Given the description of an element on the screen output the (x, y) to click on. 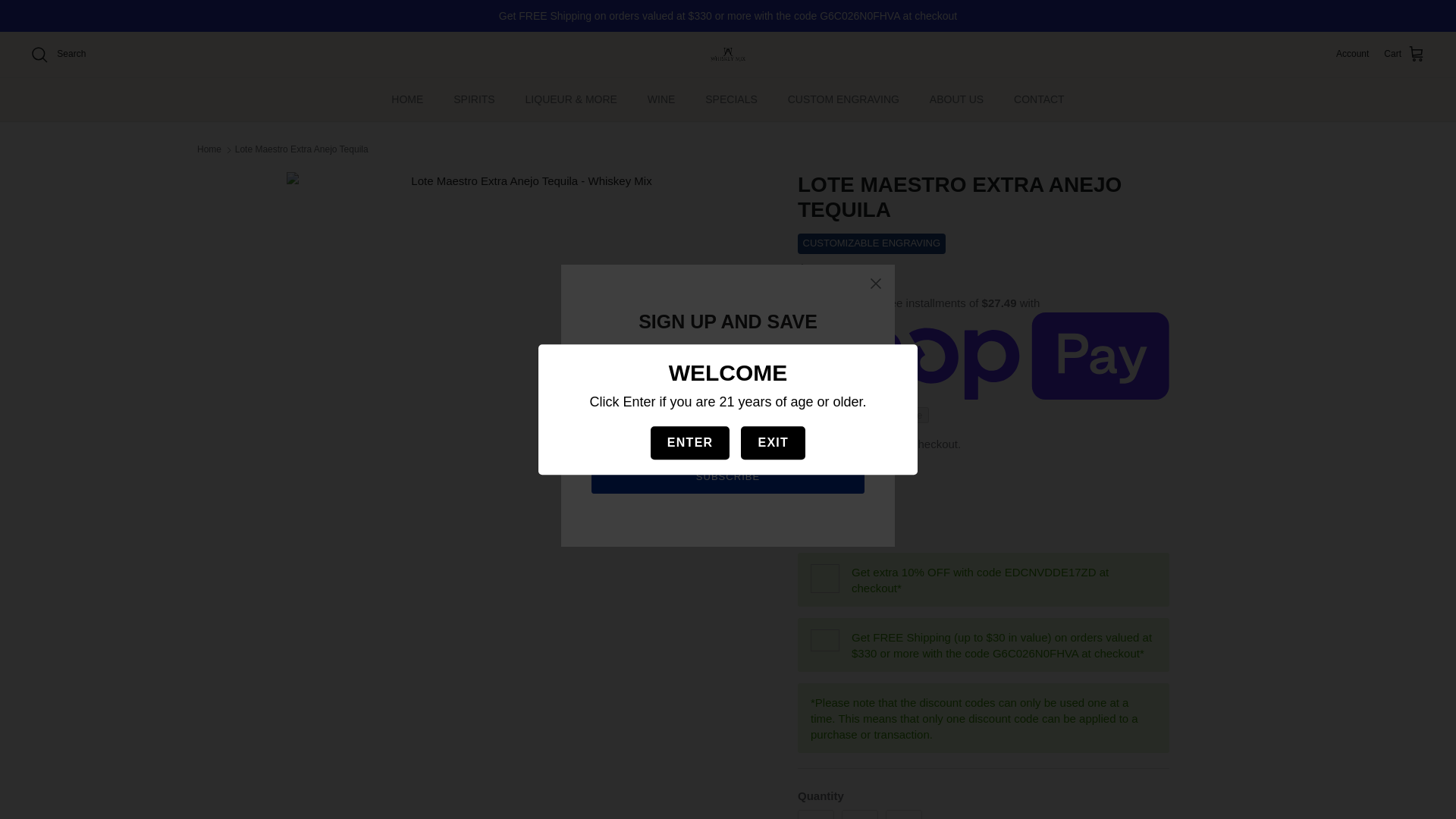
Search (57, 54)
Whiskey Mix (727, 54)
1 (859, 814)
Cart (1404, 54)
HOME (406, 99)
Account (1352, 53)
SPIRITS (473, 99)
